Given the description of an element on the screen output the (x, y) to click on. 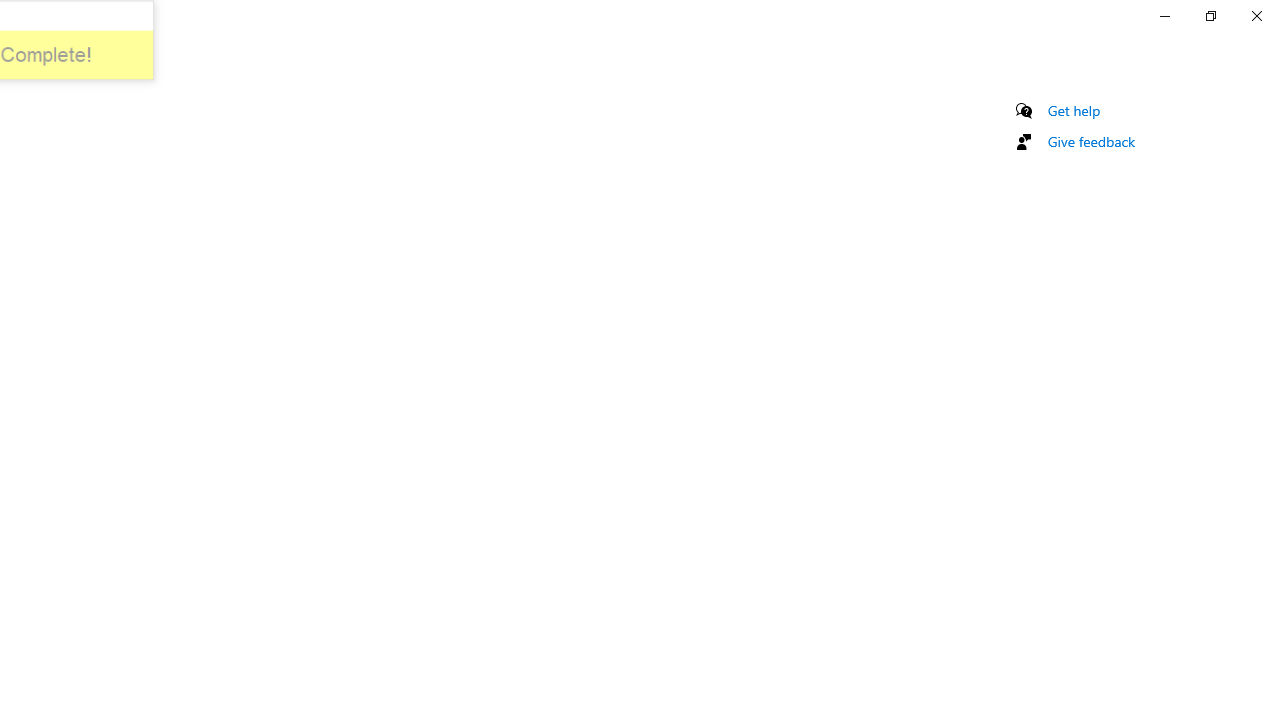
Minimize Settings (1164, 15)
Get help (1074, 110)
Close Settings (1256, 15)
Restore Settings (1210, 15)
Give feedback (1091, 141)
